Given the description of an element on the screen output the (x, y) to click on. 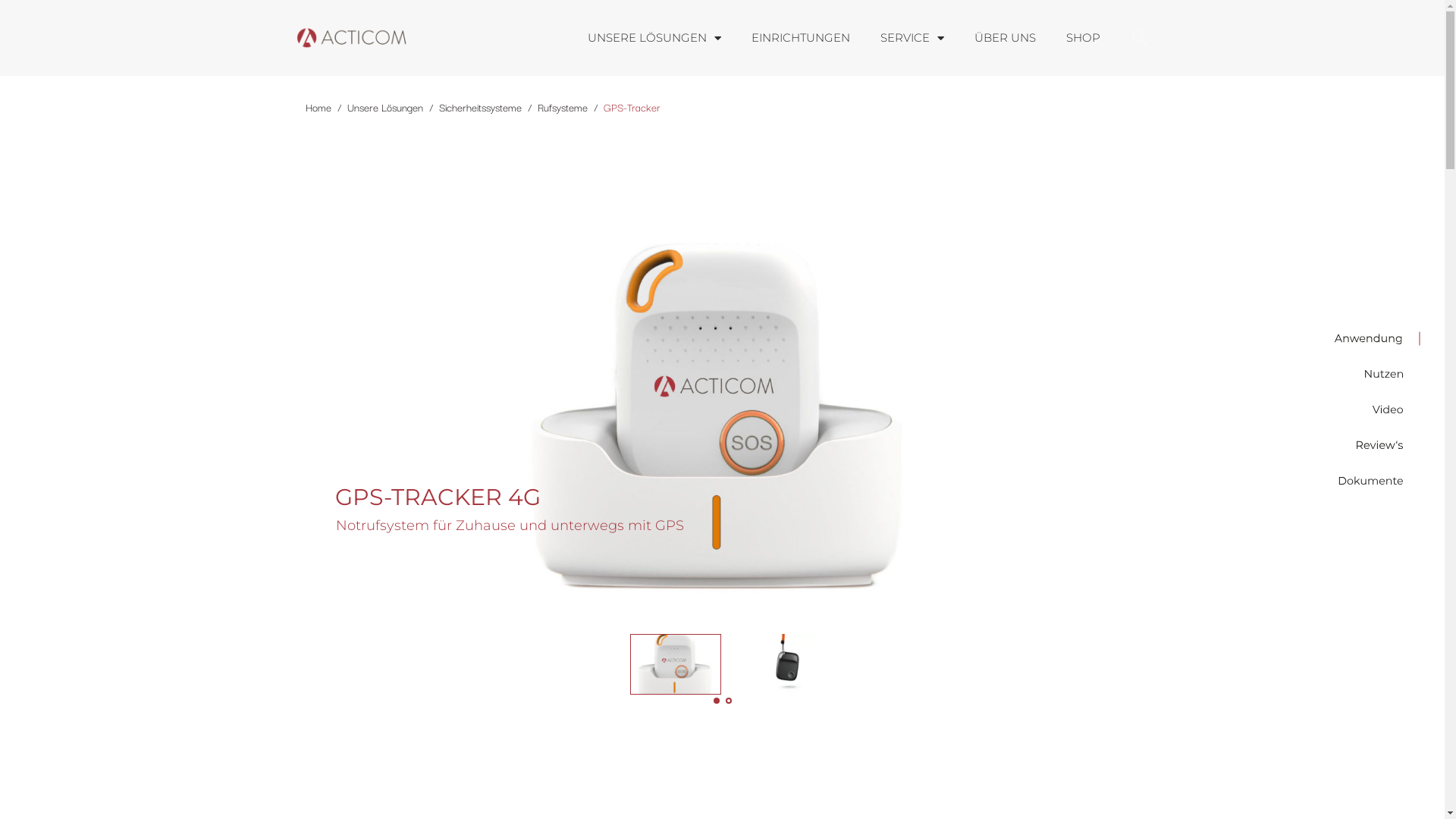
Sicherheitssysteme Element type: text (479, 106)
SHOP Element type: text (1083, 37)
Rufsysteme Element type: text (561, 106)
SERVICE Element type: text (911, 37)
Home Element type: text (317, 106)
EINRICHTUNGEN Element type: text (799, 37)
